Given the description of an element on the screen output the (x, y) to click on. 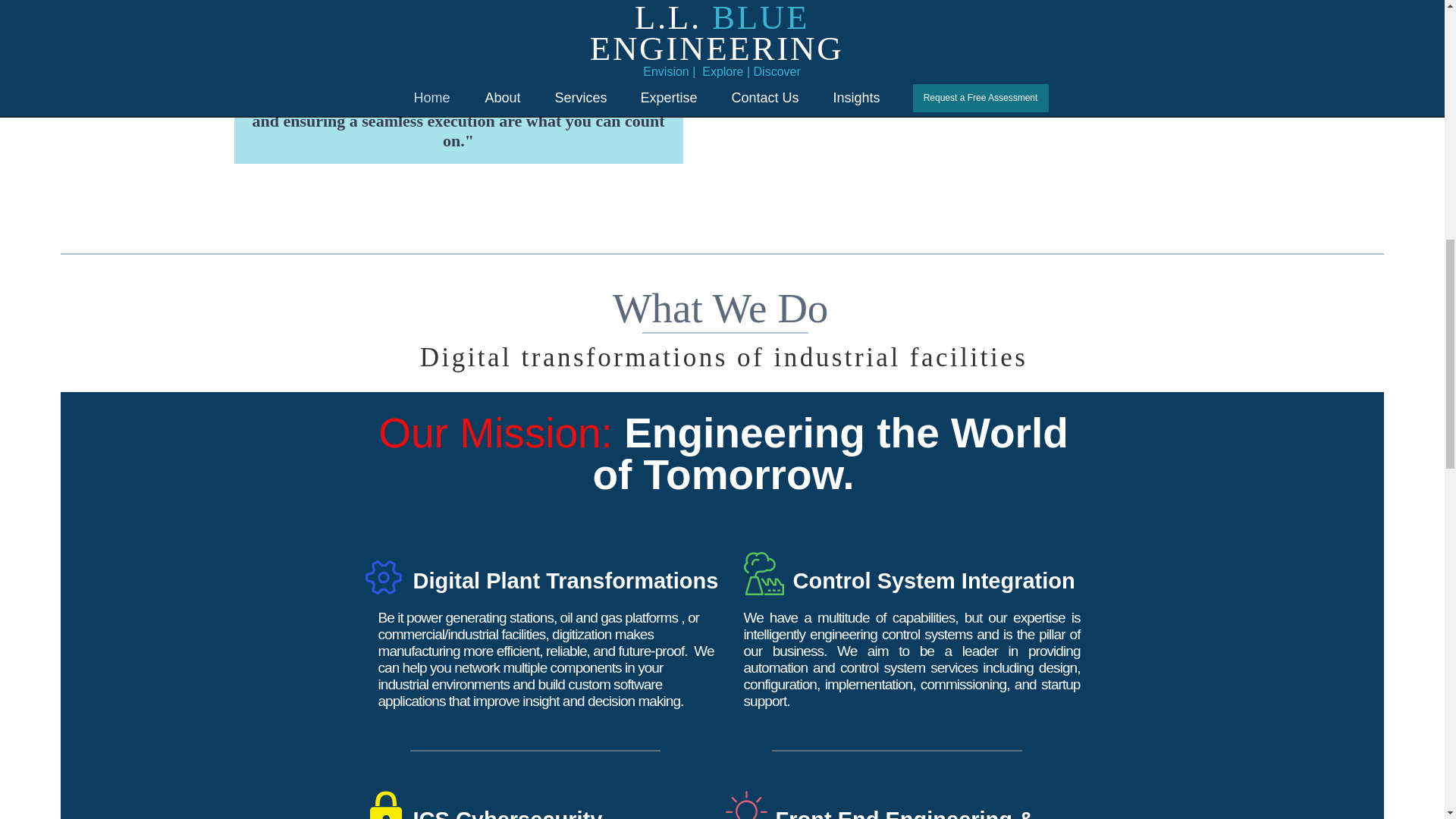
Digital Plant Transformations (564, 580)
Control System Integration (934, 580)
ICS Cybersecurity (507, 813)
